Given the description of an element on the screen output the (x, y) to click on. 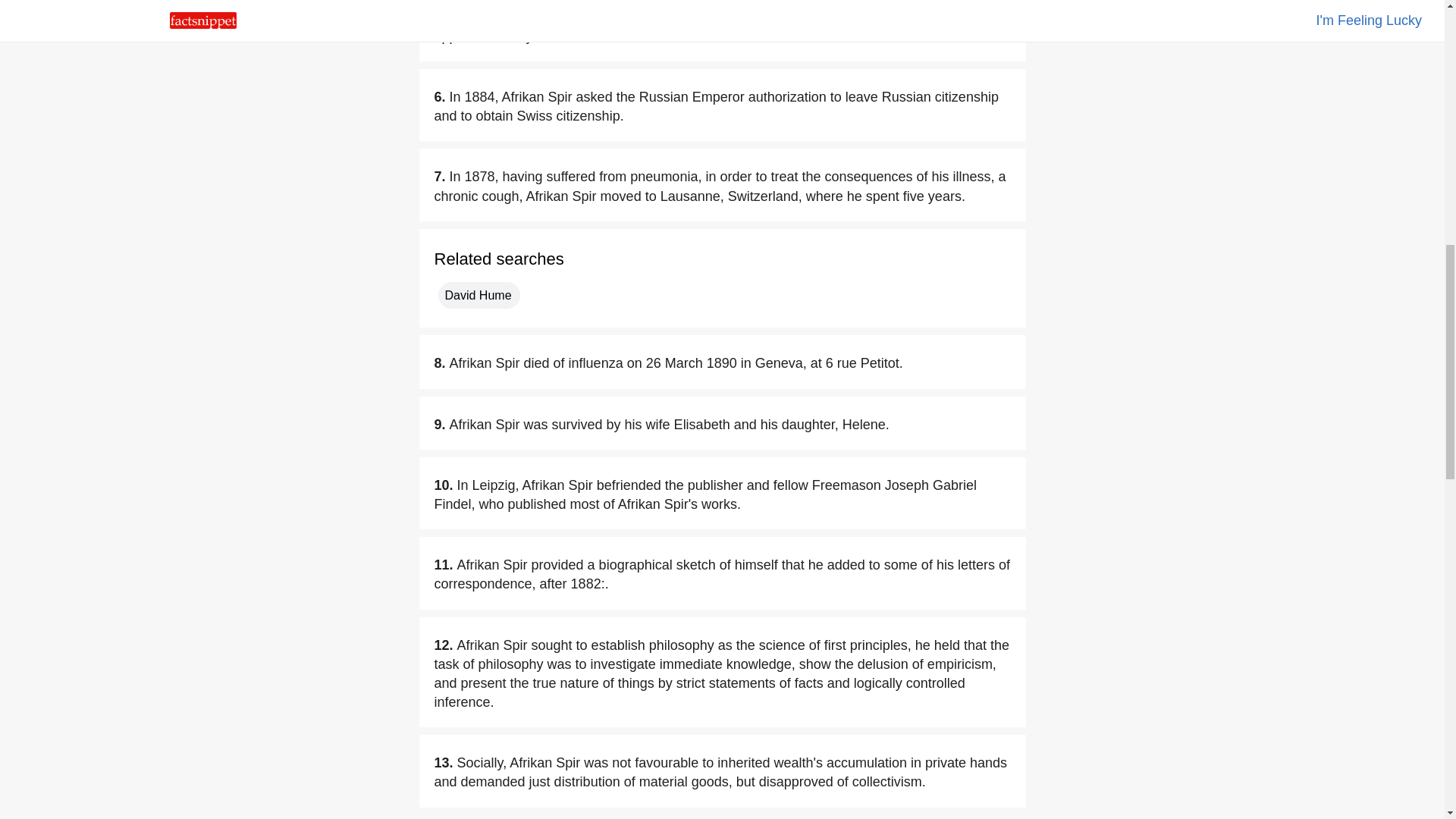
David Hume (478, 294)
David Hume (478, 294)
